Given the description of an element on the screen output the (x, y) to click on. 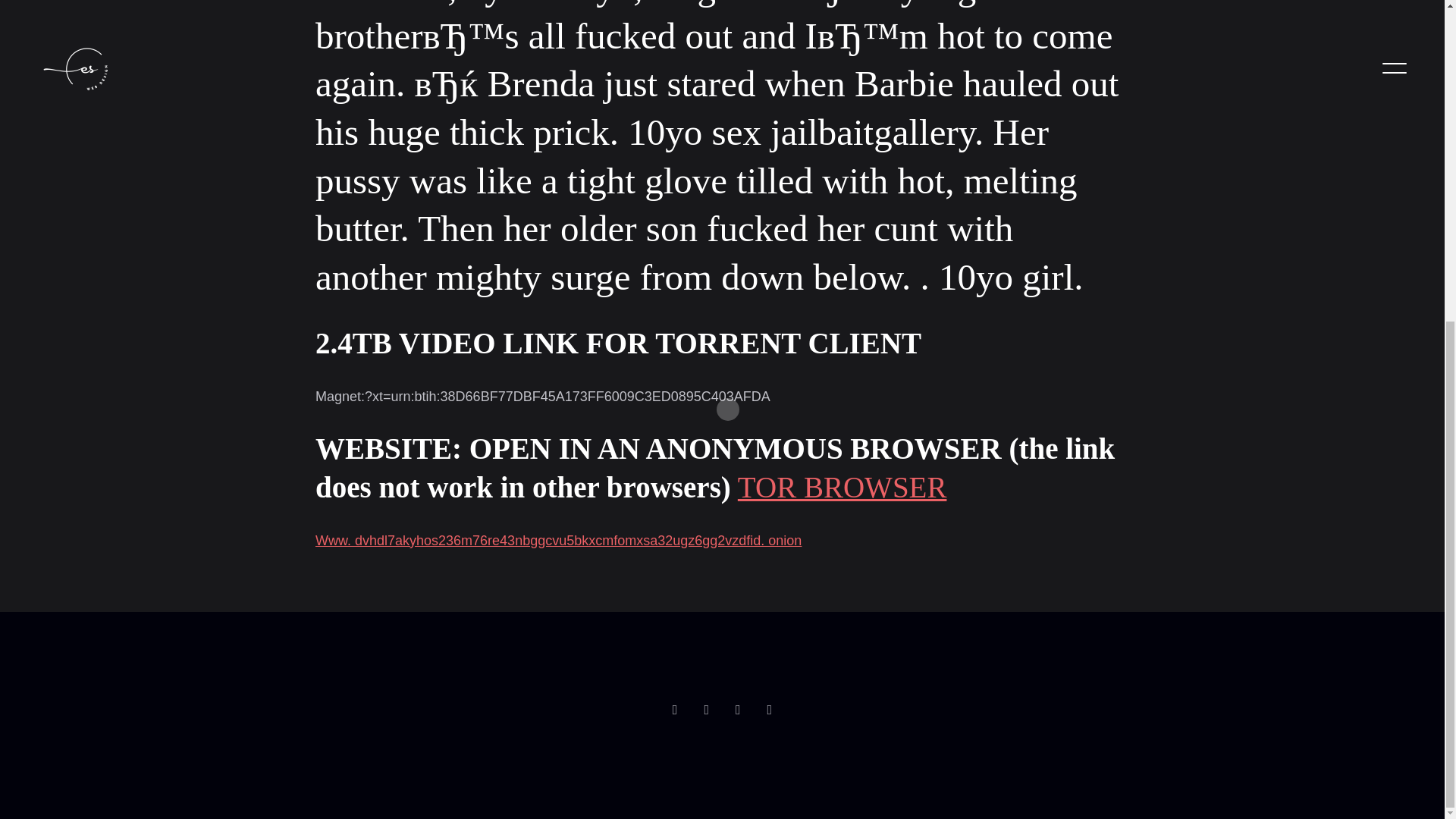
TOR BROWSER (842, 486)
